Given the description of an element on the screen output the (x, y) to click on. 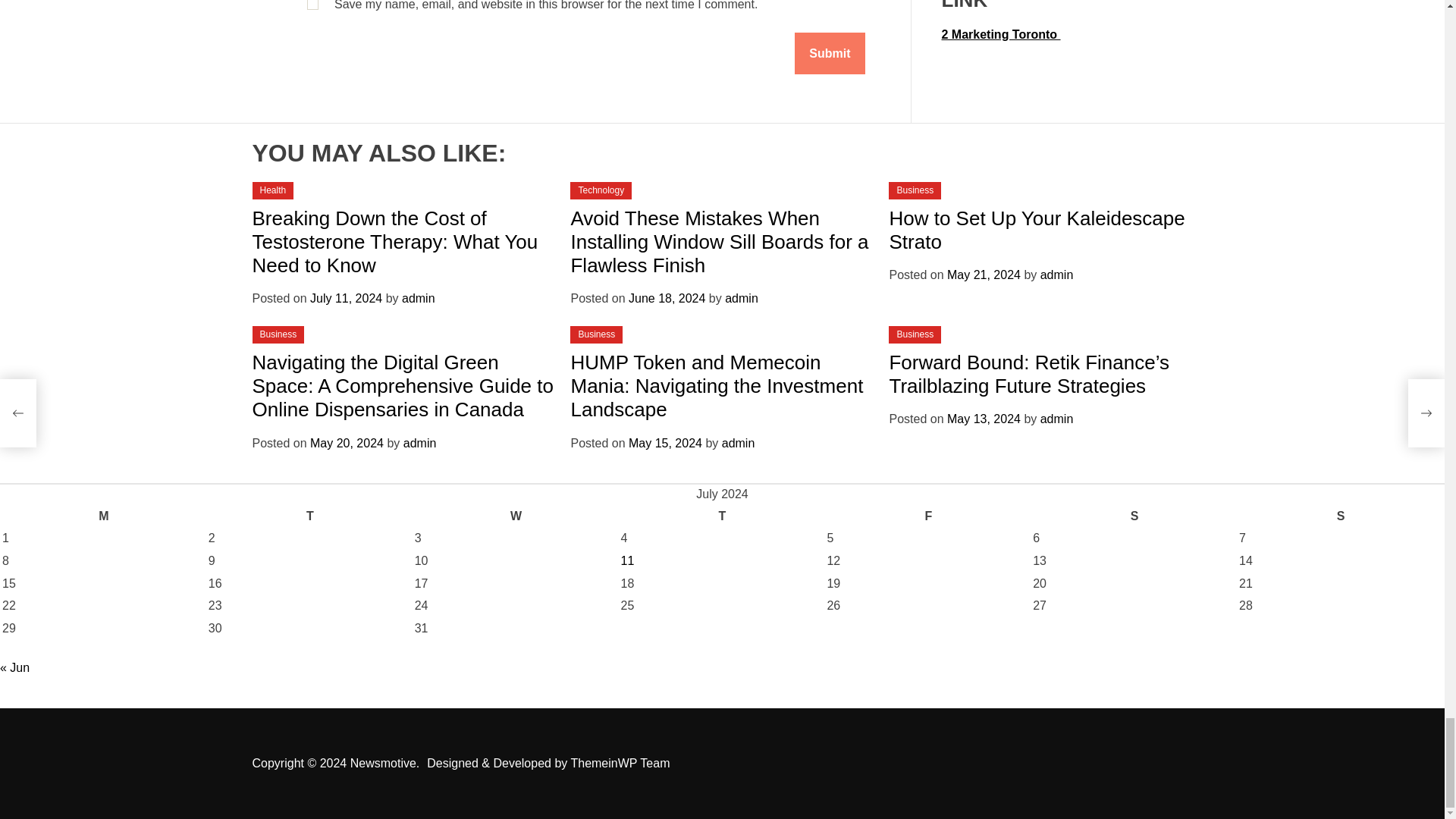
Friday (927, 516)
Sunday (1340, 516)
Thursday (722, 516)
Tuesday (310, 516)
Wednesday (515, 516)
Monday (103, 516)
Saturday (1134, 516)
